Given the description of an element on the screen output the (x, y) to click on. 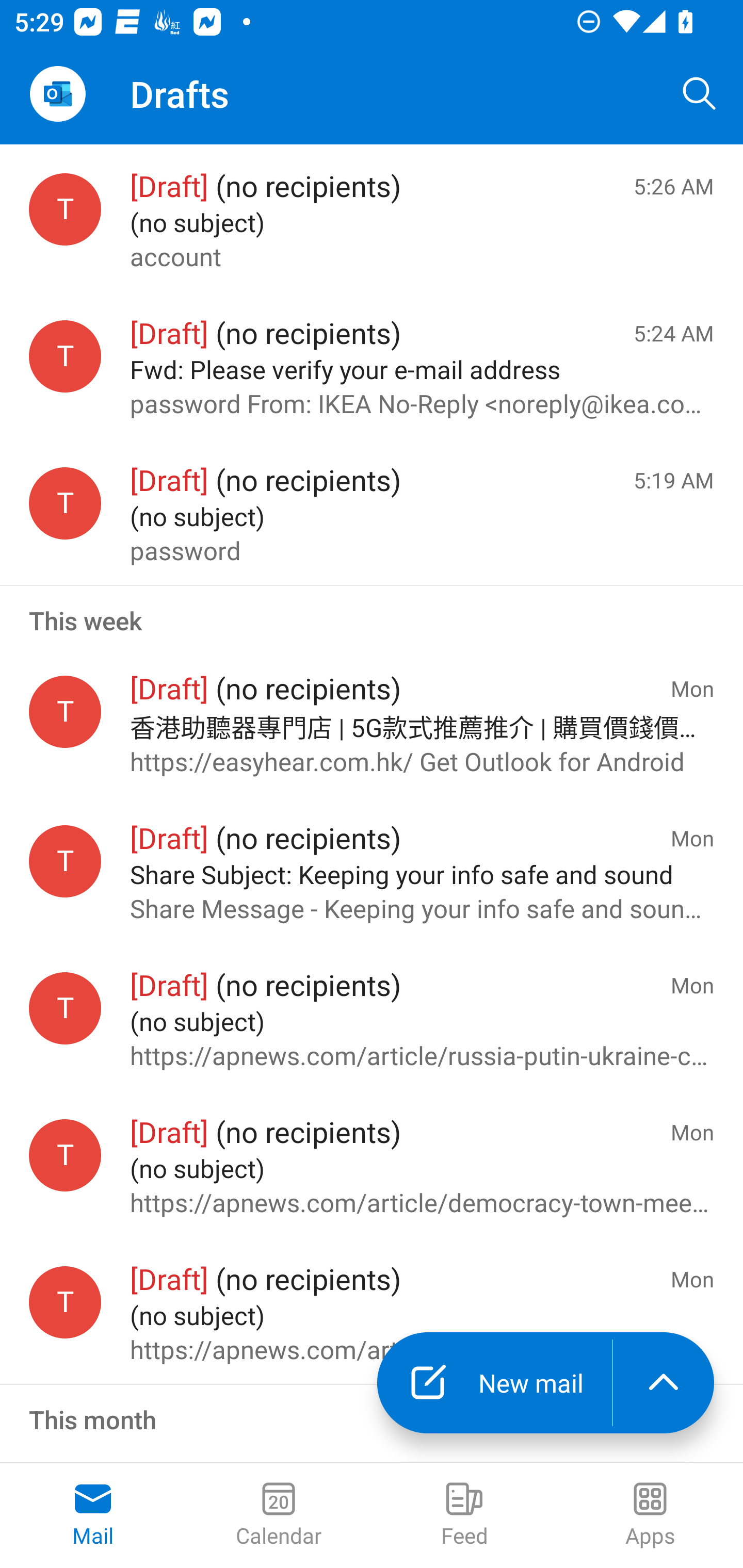
Search, ,  (699, 93)
Open Navigation Drawer (57, 94)
testappium002@outlook.com (64, 210)
testappium002@outlook.com (64, 355)
testappium002@outlook.com (64, 503)
testappium002@outlook.com (64, 711)
testappium002@outlook.com (64, 860)
testappium002@outlook.com (64, 1008)
testappium002@outlook.com (64, 1155)
testappium002@outlook.com (64, 1302)
New mail (494, 1382)
launch the extended action menu (663, 1382)
Calendar (278, 1515)
Feed (464, 1515)
Apps (650, 1515)
